Given the description of an element on the screen output the (x, y) to click on. 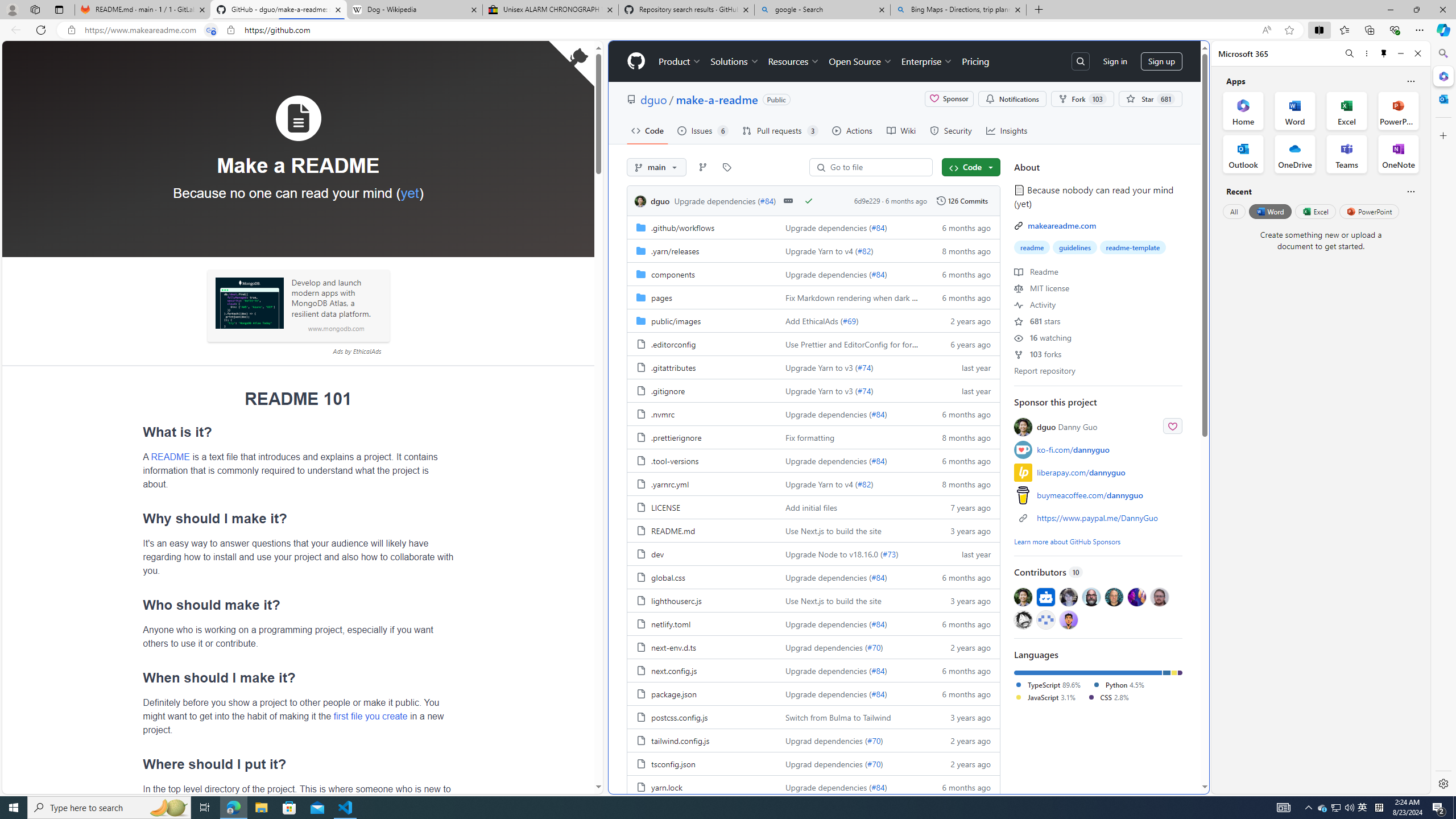
Wiki (900, 130)
Code (647, 130)
Insights (1006, 130)
Upgrad dependencies ( (825, 763)
Go to file (875, 167)
126 Commits (961, 200)
.editorconfig, (File) (672, 343)
global.css, (File) (701, 576)
liberapay.com/dannyguo (1097, 471)
@Haroenv (1136, 596)
Resources (793, 60)
JavaScript 3.1% (1044, 696)
2 years ago (961, 763)
